Given the description of an element on the screen output the (x, y) to click on. 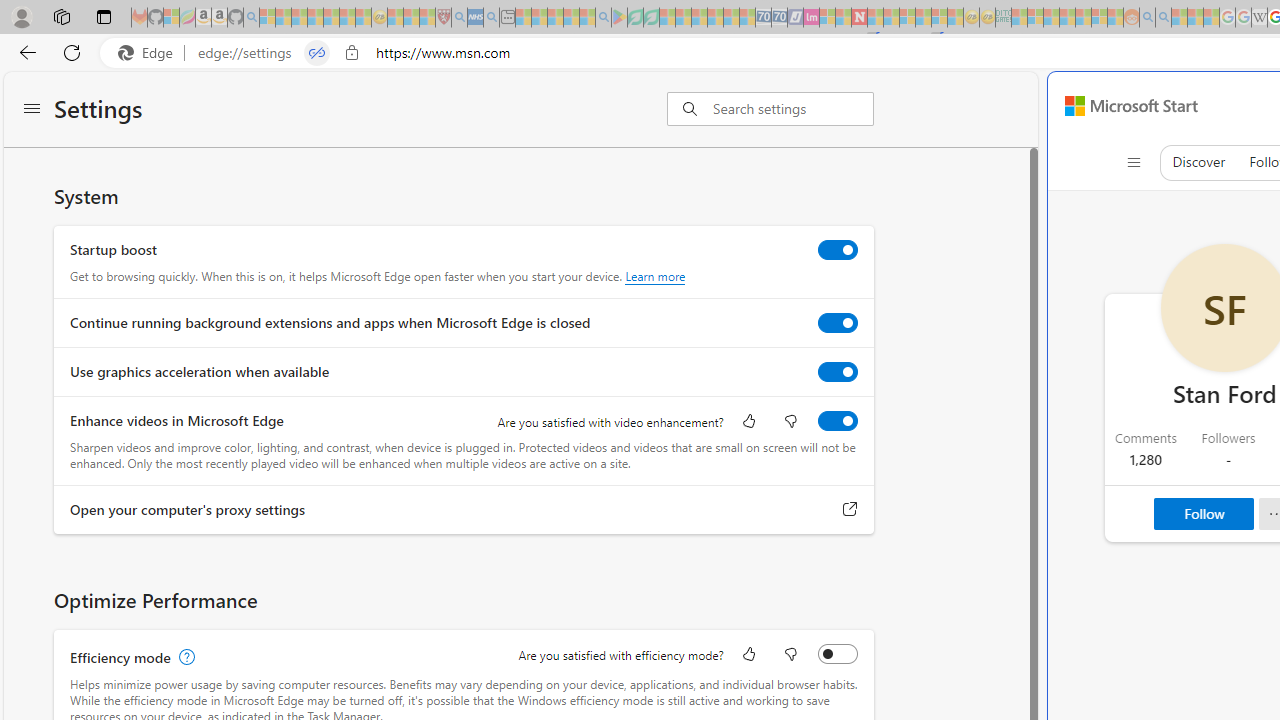
Startup boost (837, 249)
Class: control icon-only (1133, 162)
